Given the description of an element on the screen output the (x, y) to click on. 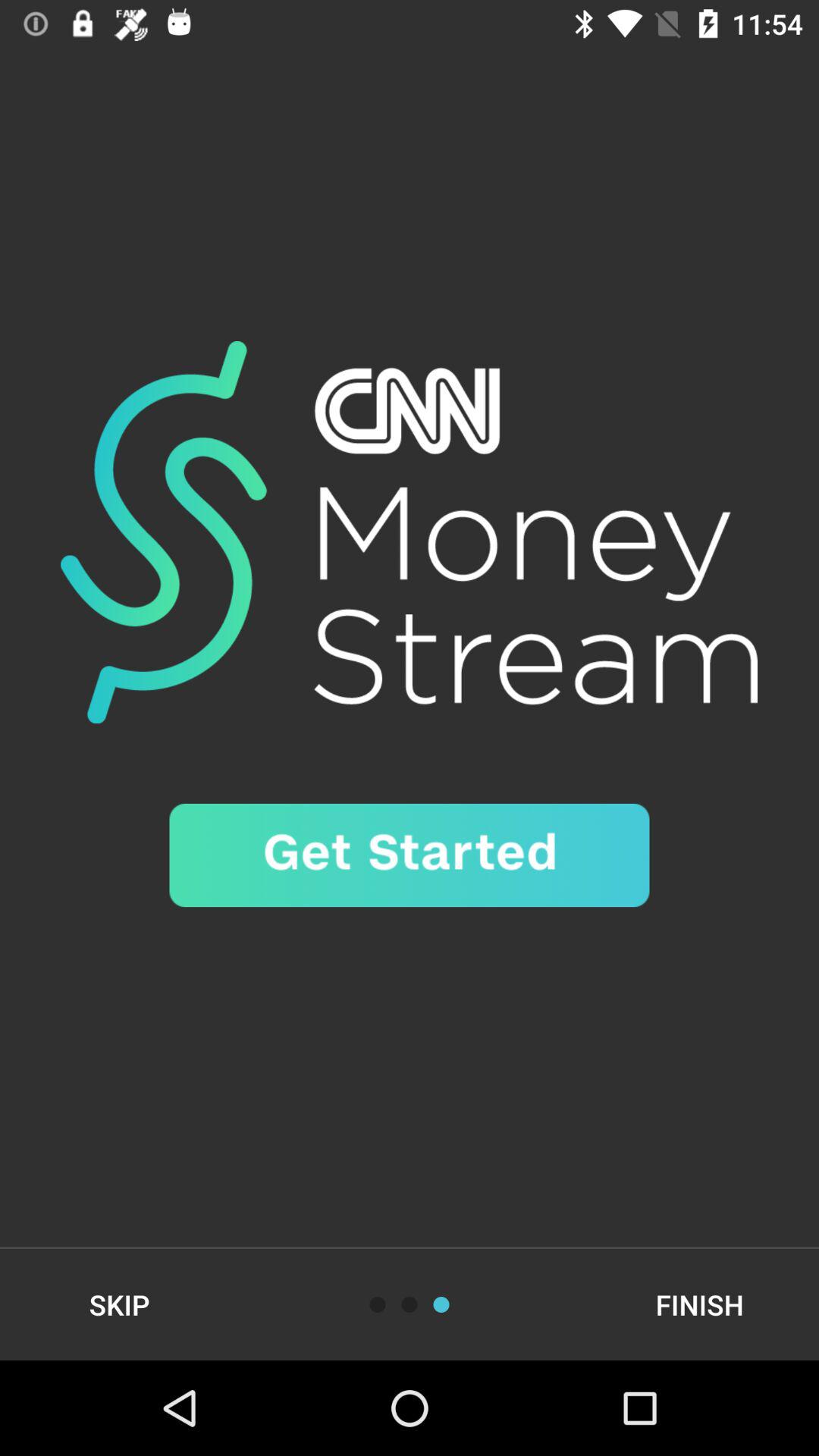
launch the finish at the bottom right corner (699, 1304)
